Given the description of an element on the screen output the (x, y) to click on. 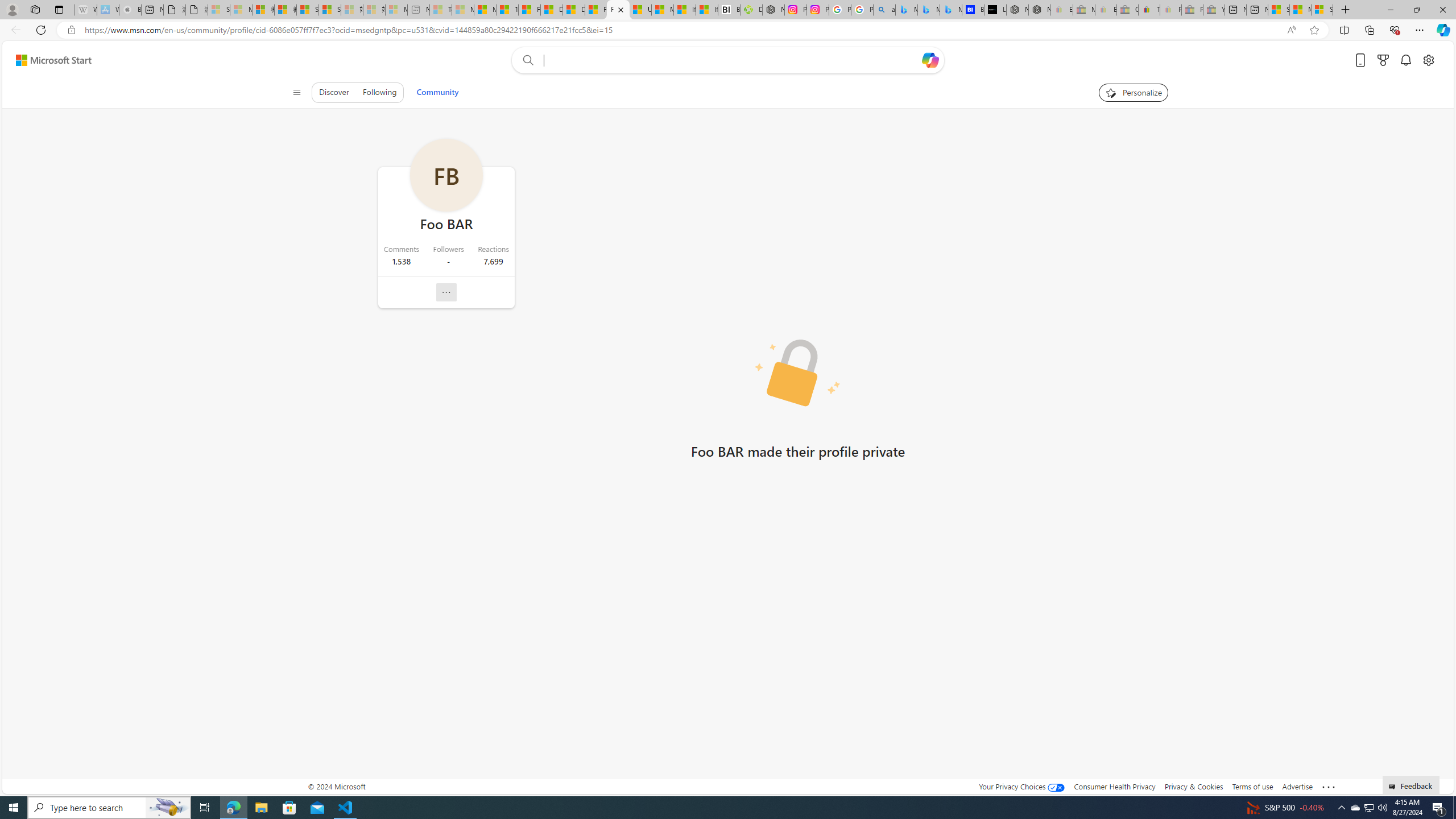
Consumer Health Privacy (1115, 786)
Nordace - Nordace Edin Collection (773, 9)
Buy iPad - Apple - Sleeping (130, 9)
Consumer Health Privacy (1115, 785)
Microsoft Bing Travel - Flights from Hong Kong to Bangkok (907, 9)
Terms of use (1252, 786)
